Given the description of an element on the screen output the (x, y) to click on. 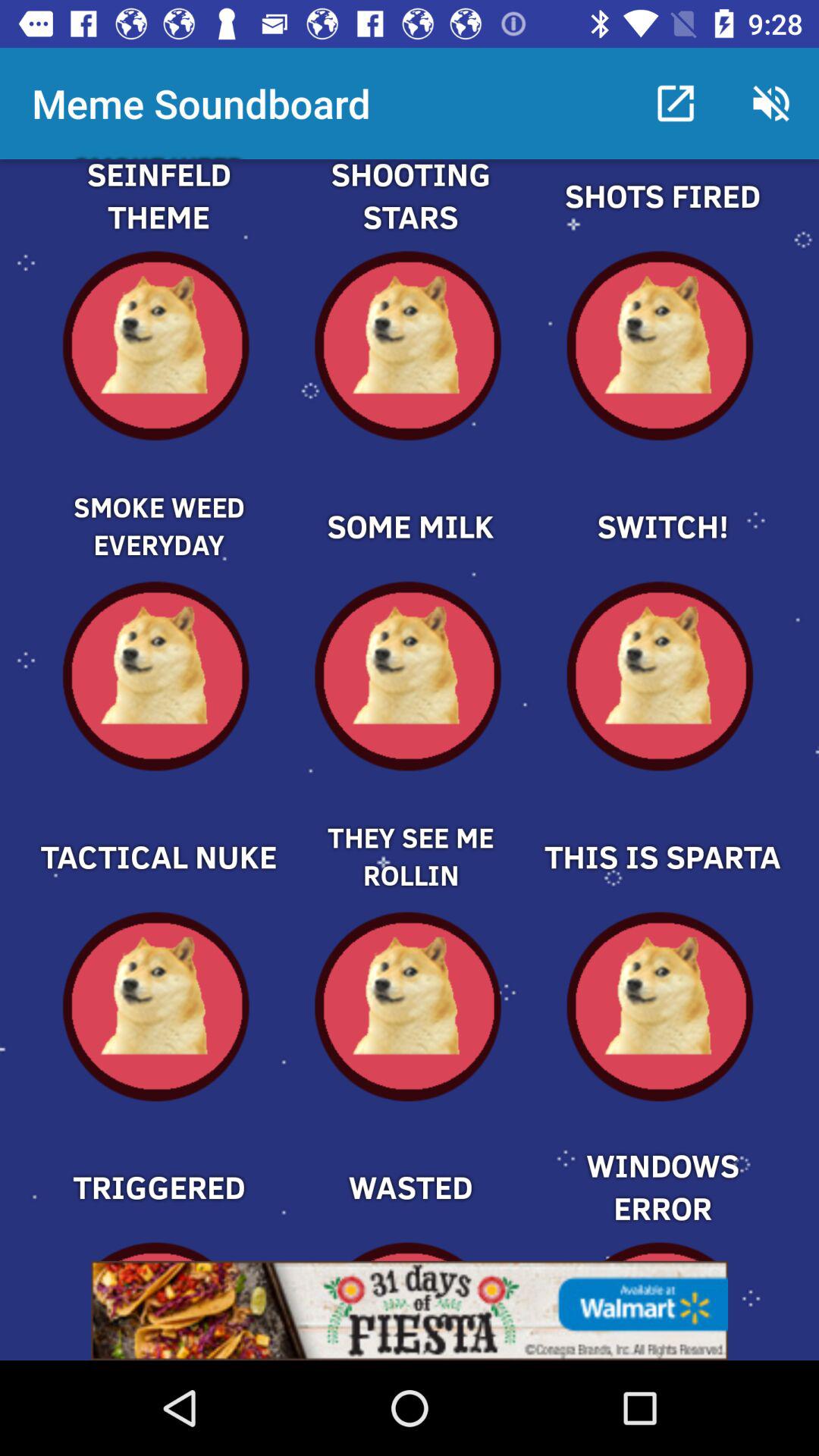
choose wasted (409, 1160)
